Given the description of an element on the screen output the (x, y) to click on. 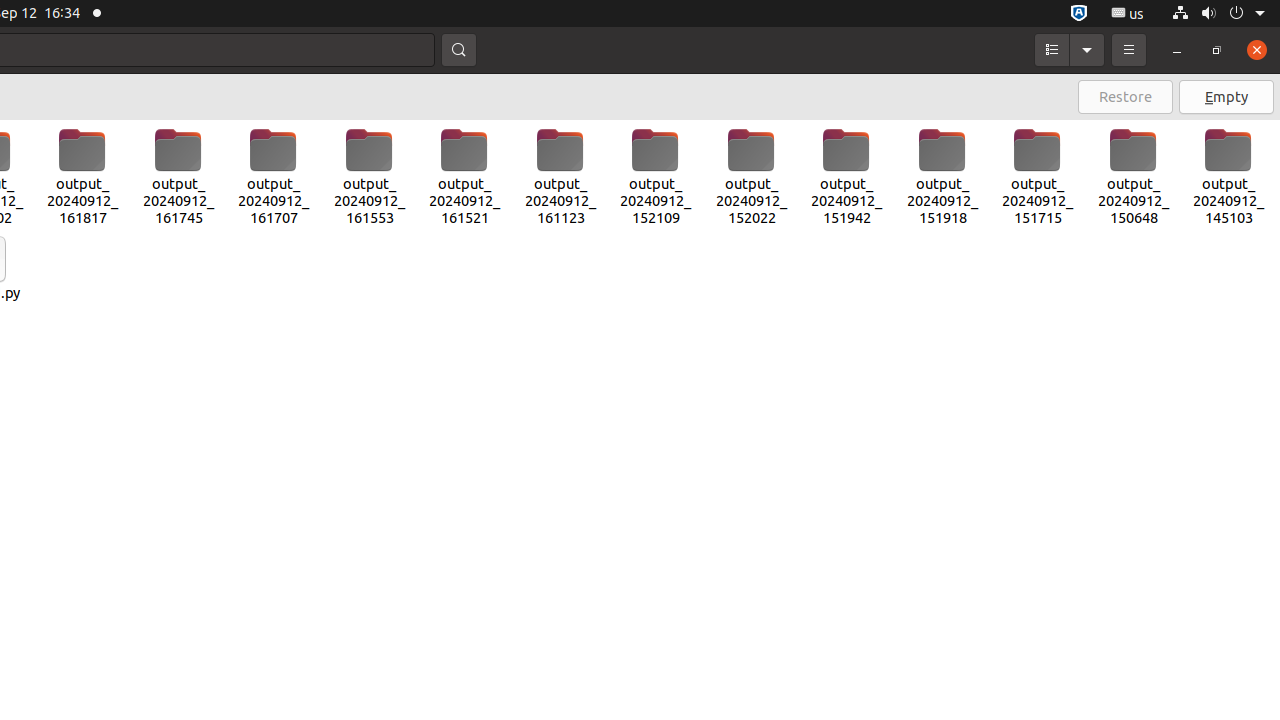
output_20240912_161553 Element type: canvas (369, 177)
Empty Element type: push-button (1226, 97)
output_20240912_161745 Element type: canvas (178, 177)
output_20240912_161817 Element type: canvas (83, 177)
output_20240912_150648 Element type: canvas (1133, 177)
